Given the description of an element on the screen output the (x, y) to click on. 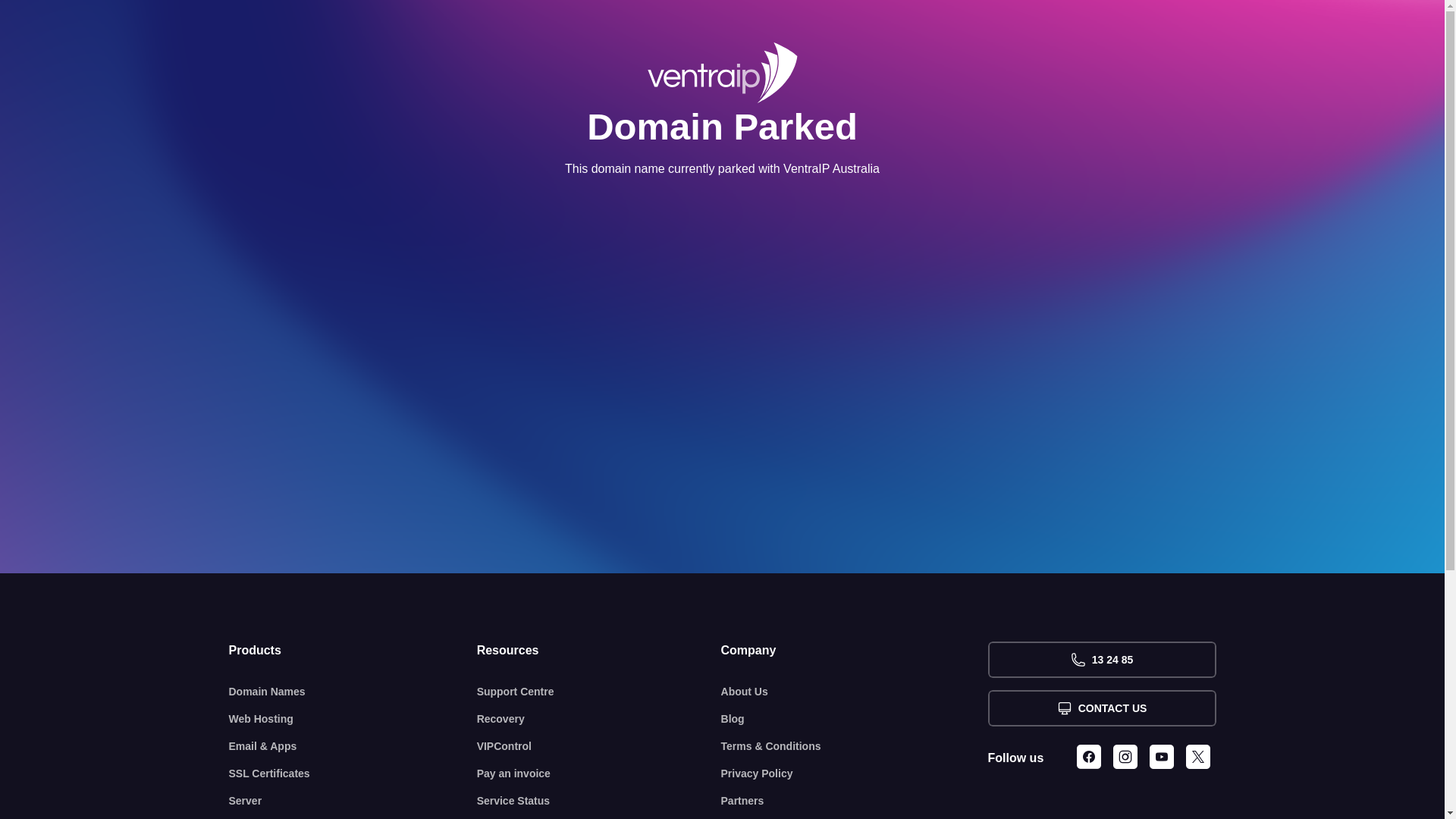
Terms & Conditions Element type: text (854, 745)
Pay an invoice Element type: text (598, 773)
13 24 85 Element type: text (1101, 659)
Recovery Element type: text (598, 718)
Email & Apps Element type: text (352, 745)
Web Hosting Element type: text (352, 718)
VIPControl Element type: text (598, 745)
Blog Element type: text (854, 718)
CONTACT US Element type: text (1101, 708)
About Us Element type: text (854, 691)
Server Element type: text (352, 800)
Partners Element type: text (854, 800)
Privacy Policy Element type: text (854, 773)
Domain Names Element type: text (352, 691)
SSL Certificates Element type: text (352, 773)
Service Status Element type: text (598, 800)
Support Centre Element type: text (598, 691)
